Given the description of an element on the screen output the (x, y) to click on. 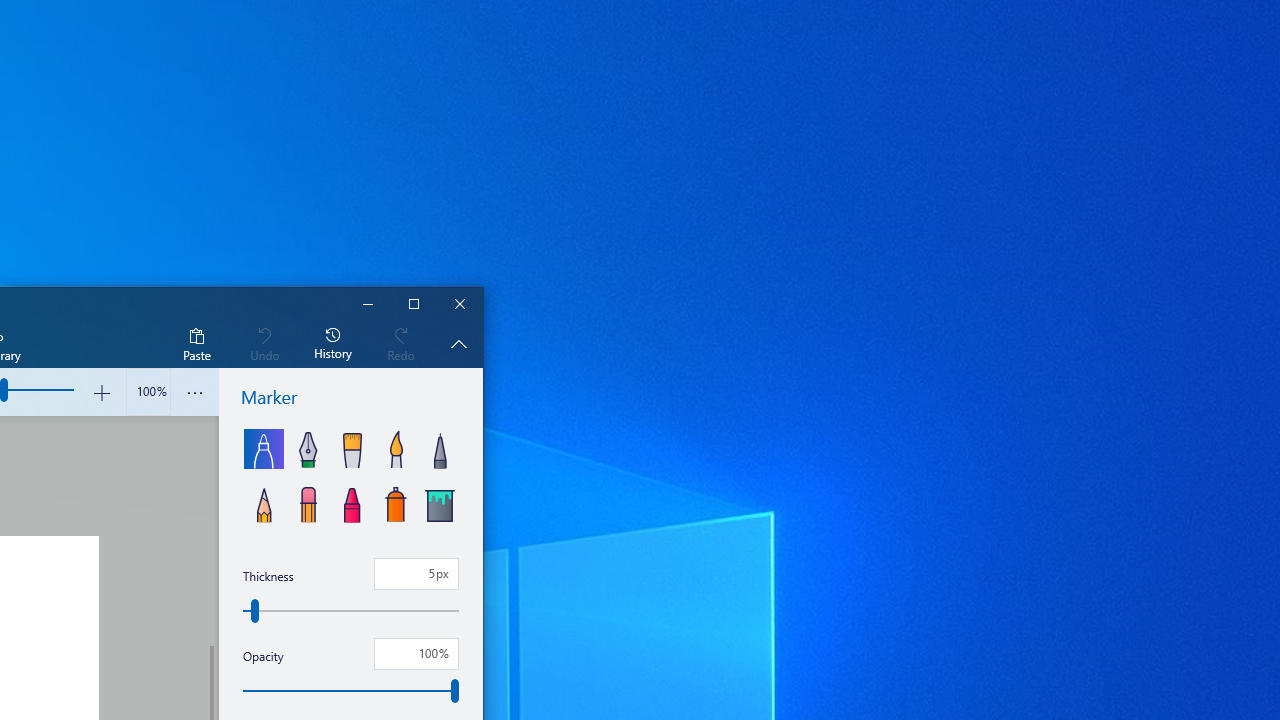
Thickness, pixels (351, 610)
Marker (264, 448)
Vertical Large Decrease (210, 530)
Hide description (458, 343)
Opacity, percent (351, 691)
Thickness, pixels (416, 573)
Paste (196, 343)
Calligraphy pen (307, 448)
Fill (439, 502)
Crayon (351, 502)
